Given the description of an element on the screen output the (x, y) to click on. 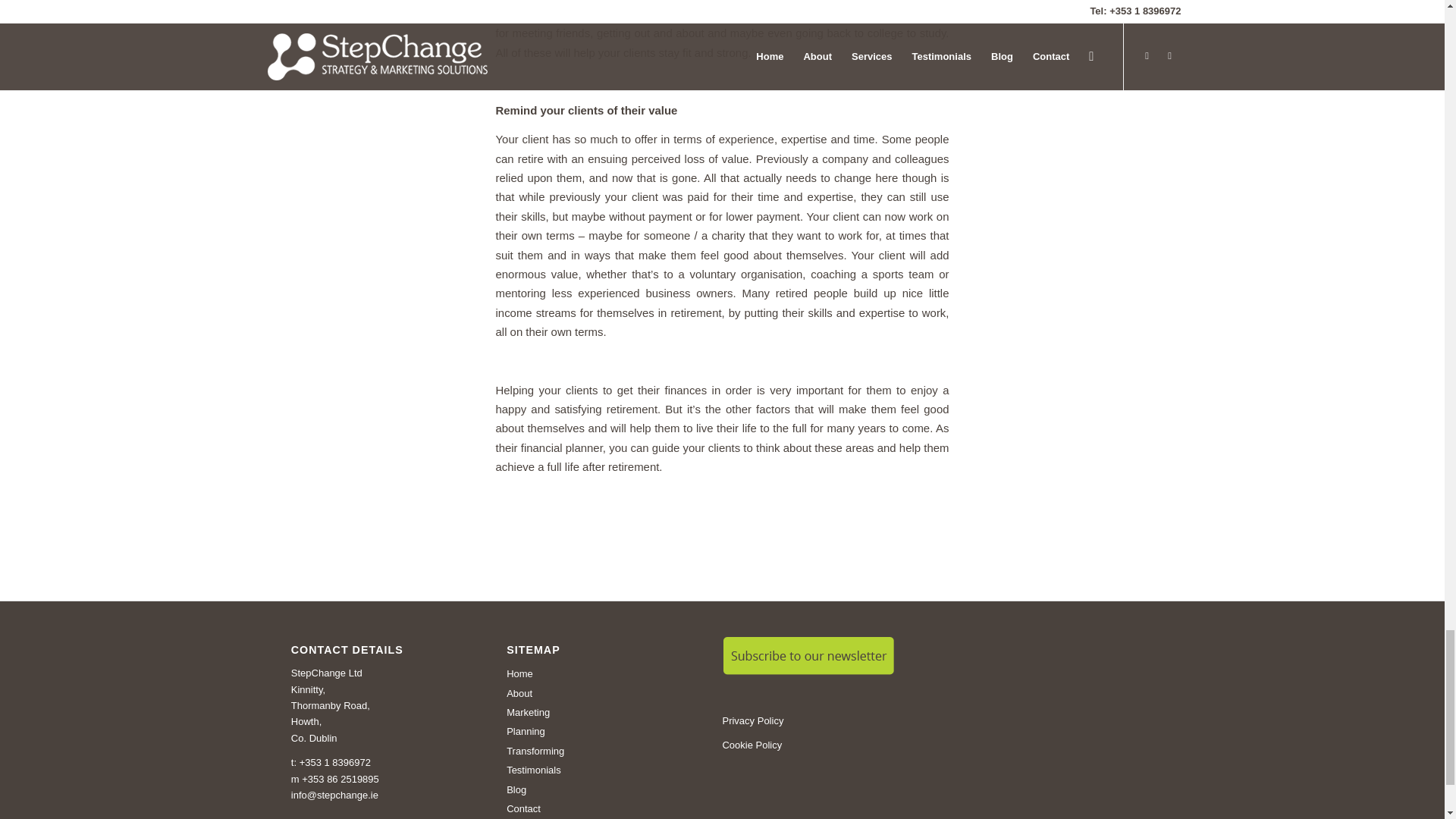
Transforming (600, 749)
Marketing (600, 710)
Cookie Policy (751, 745)
Planning (600, 729)
Contact (600, 806)
Home (600, 671)
Privacy Policy (752, 720)
Testimonials (600, 768)
About (600, 691)
Blog (600, 787)
